Given the description of an element on the screen output the (x, y) to click on. 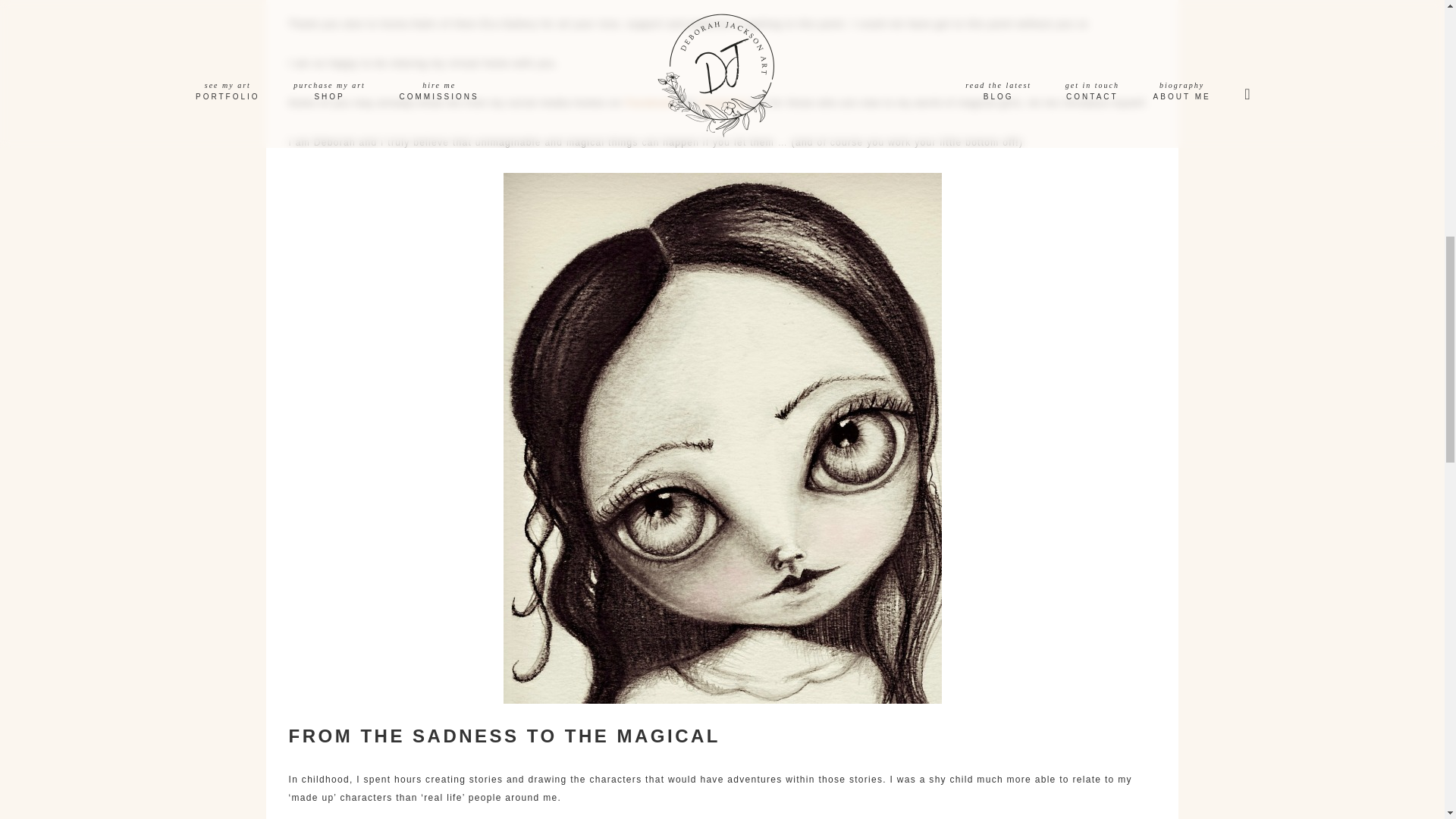
Instagram (723, 102)
Facebook (649, 102)
